Given the description of an element on the screen output the (x, y) to click on. 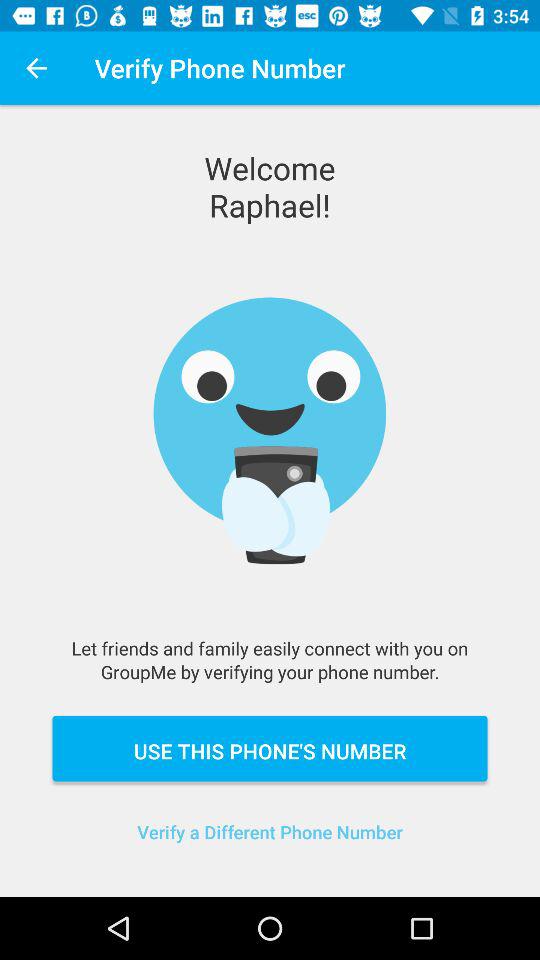
launch item to the left of verify phone number (36, 68)
